Given the description of an element on the screen output the (x, y) to click on. 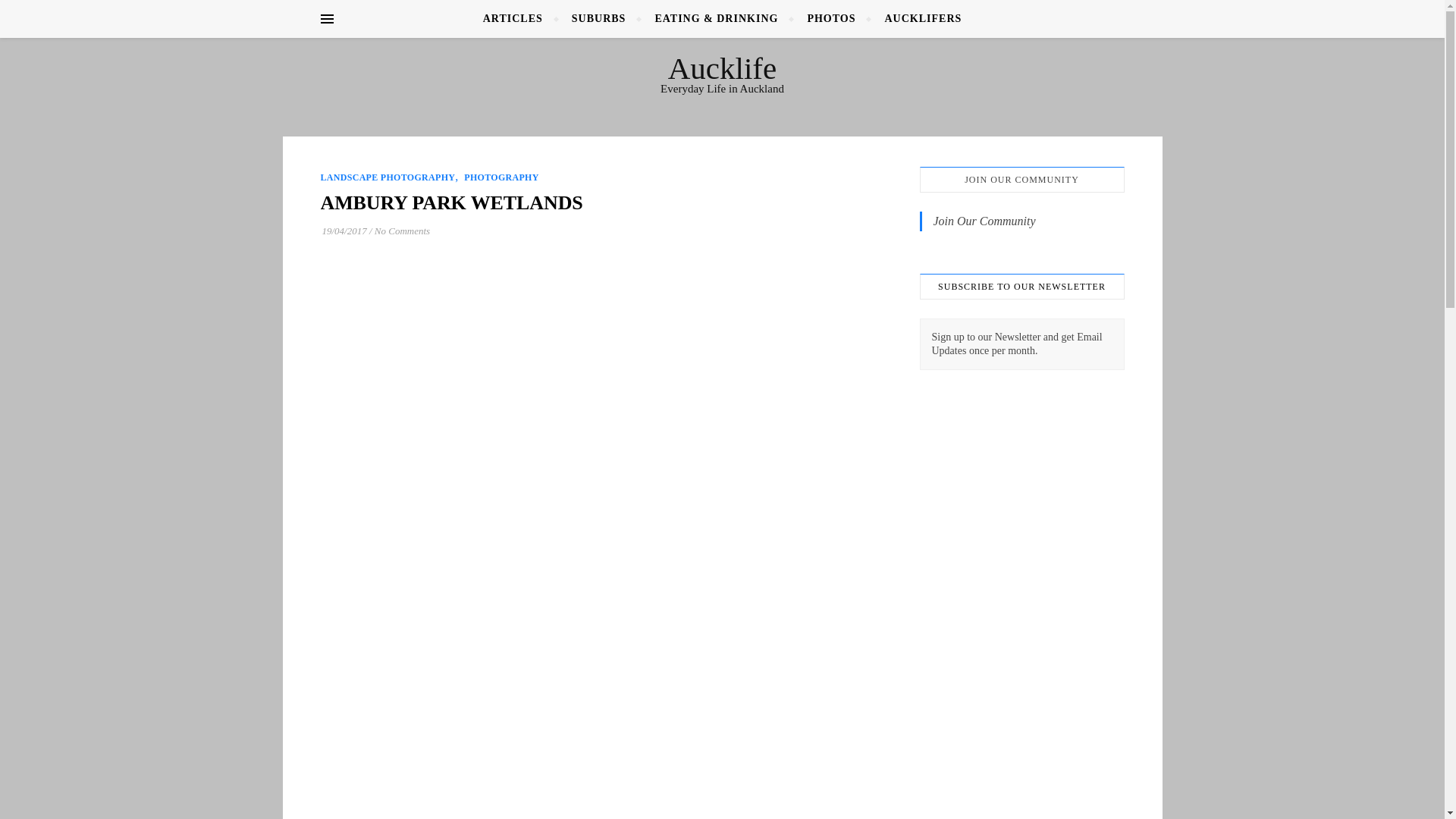
LANDSCAPE PHOTOGRAPHY (387, 176)
PHOTOS (830, 18)
SUBURBS (599, 18)
Aucklife (722, 68)
AUCKLIFERS (915, 18)
No Comments (401, 230)
PHOTOGRAPHY (501, 176)
ARTICLES (519, 18)
